Given the description of an element on the screen output the (x, y) to click on. 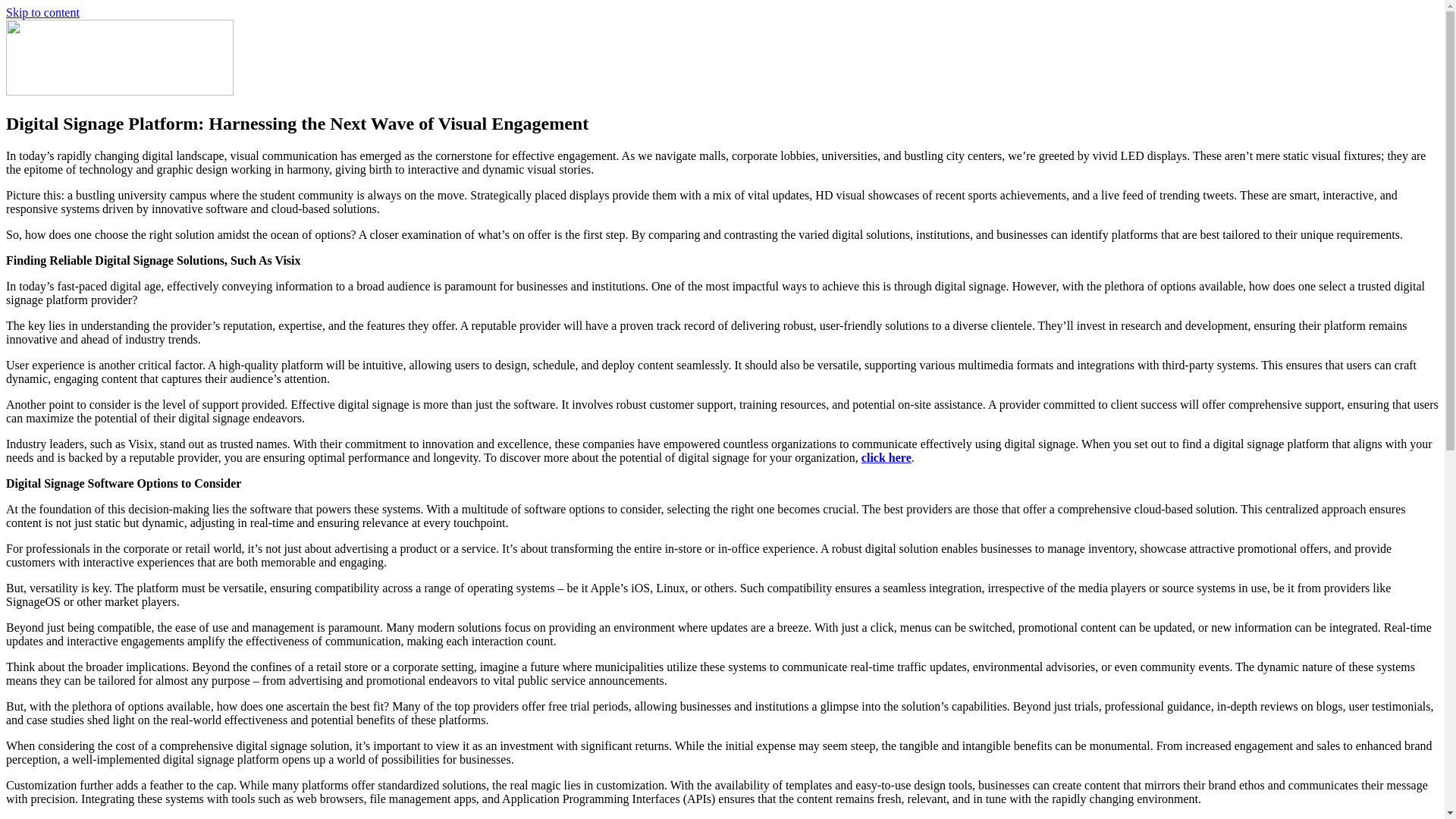
click here (886, 457)
Skip to content (42, 11)
